Given the description of an element on the screen output the (x, y) to click on. 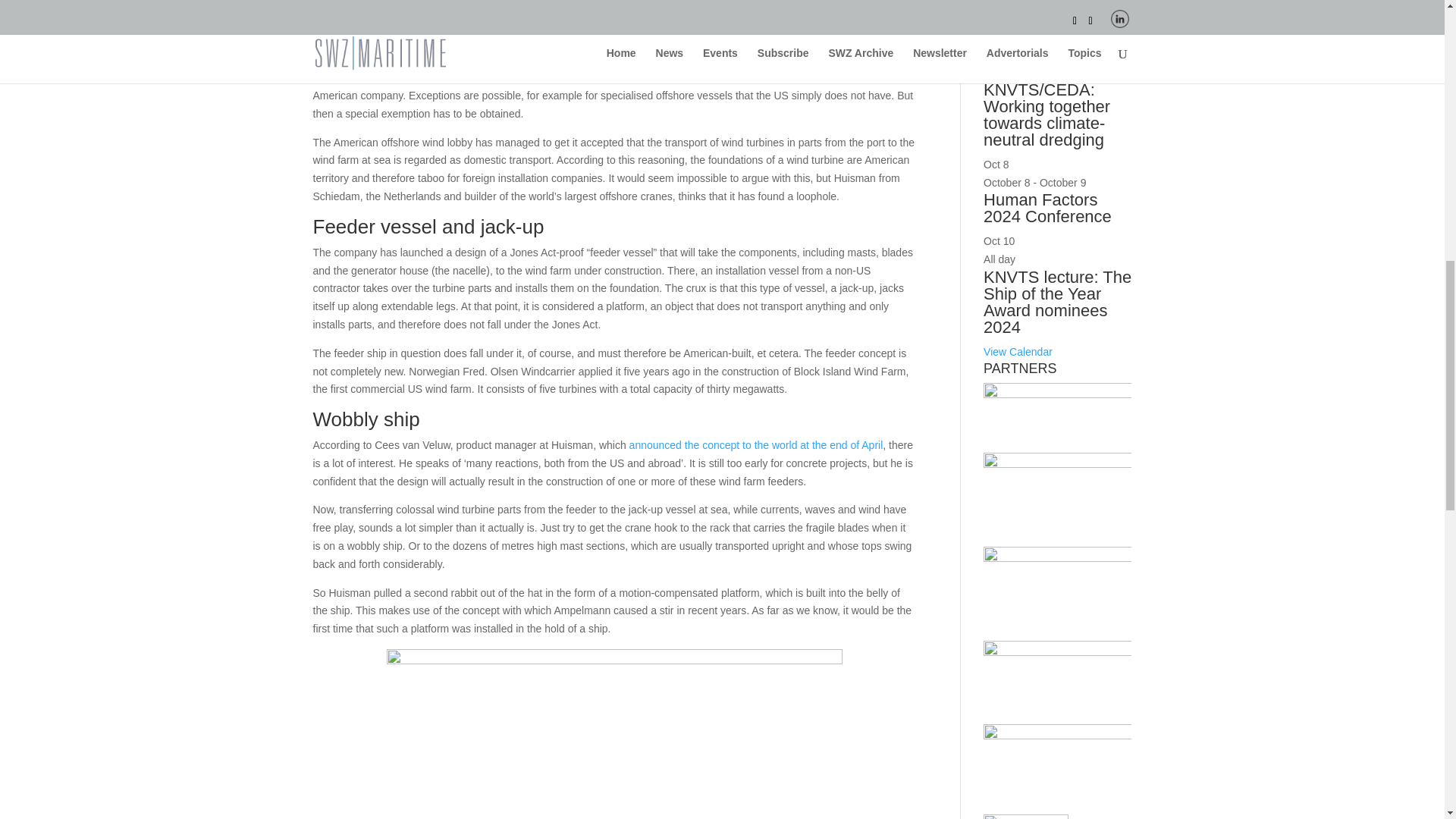
KNVTS lecture: The Ship of the Year Award nominees 2024 (1057, 301)
PARTNERS (1057, 406)
announced the concept to the world at the end of April (755, 444)
KNVTS lecture: The Ship of the Year Award nominees 2024 (1057, 301)
Human Factors 2024 Conference (1048, 208)
View Calendar (1018, 351)
Human Factors 2024 Conference (1048, 208)
View more events. (1018, 351)
